Given the description of an element on the screen output the (x, y) to click on. 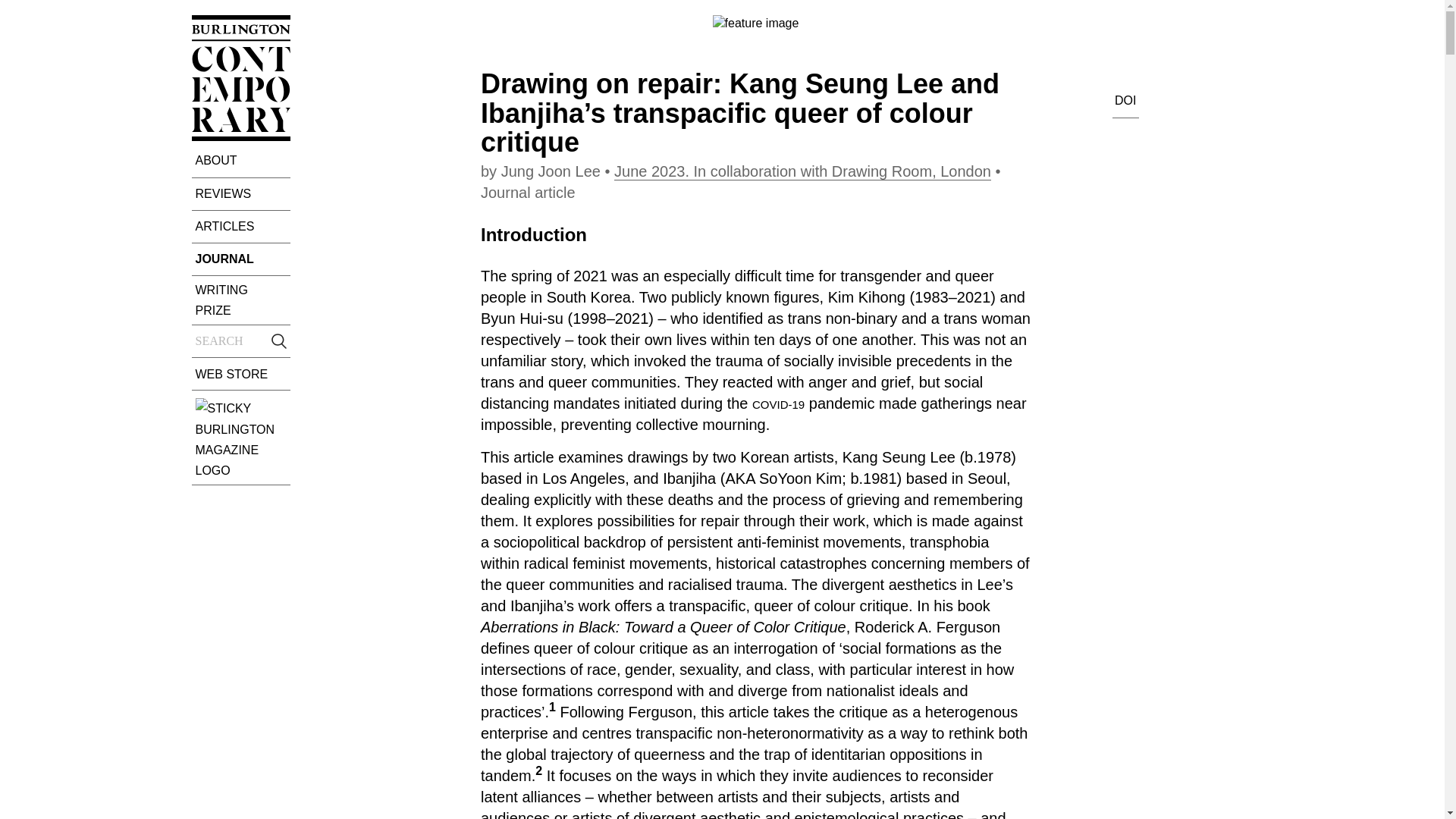
WEB STORE (240, 373)
ARTICLES (240, 226)
WRITING PRIZE (240, 300)
June 2023. In collaboration with Drawing Room, London (802, 171)
burlington contemporary (239, 136)
ABOUT (240, 159)
JOURNAL (240, 258)
WEB STORE (240, 373)
Search (240, 340)
REVIEWS (240, 193)
SEARCH (240, 340)
Burlington (240, 436)
